Given the description of an element on the screen output the (x, y) to click on. 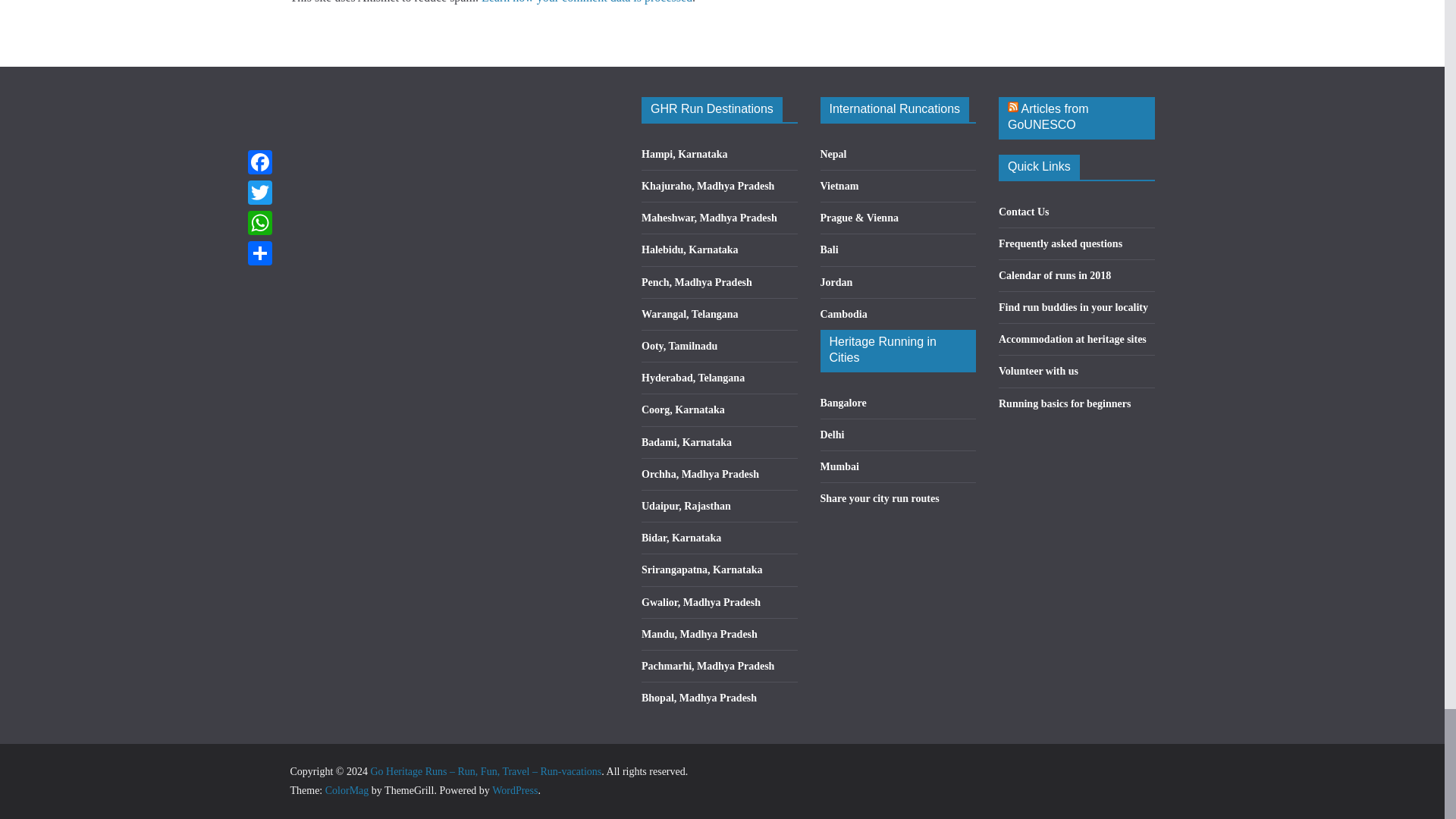
ColorMag (346, 790)
WordPress (514, 790)
